Given the description of an element on the screen output the (x, y) to click on. 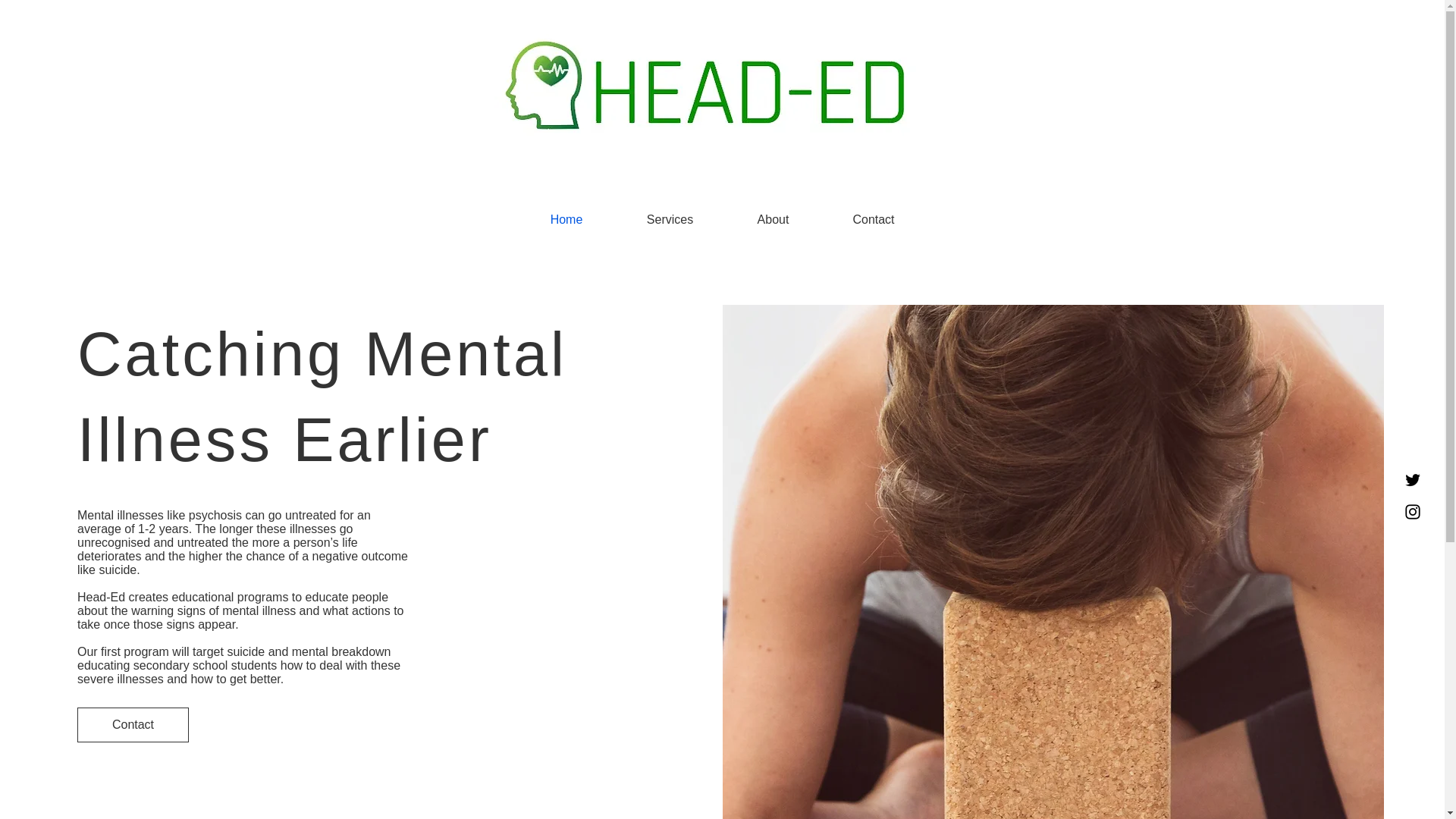
Home (566, 219)
Contact (133, 724)
Contact (873, 219)
Services (669, 219)
About (773, 219)
